Given the description of an element on the screen output the (x, y) to click on. 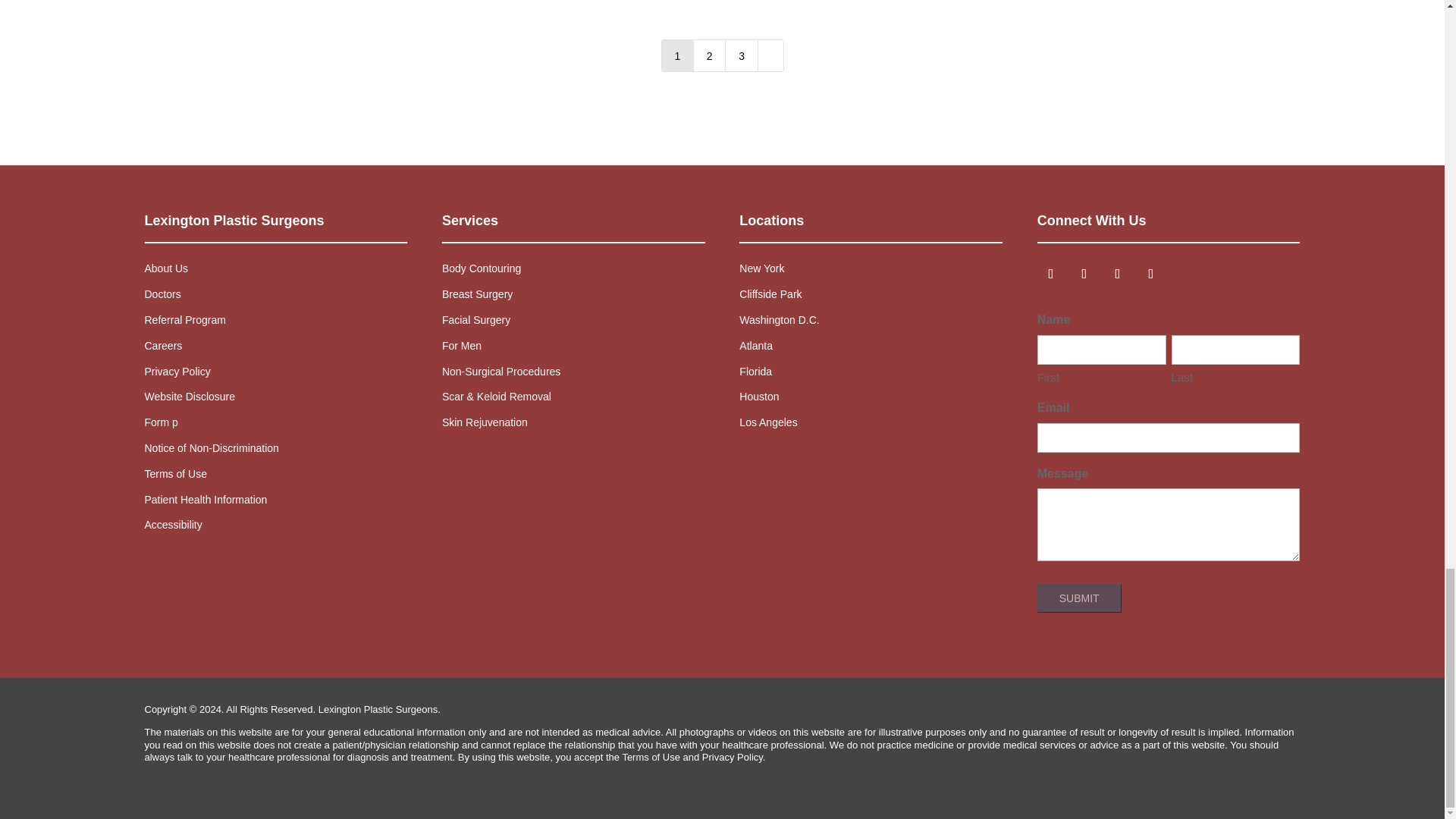
Submit (1078, 597)
Follow on X (1150, 273)
Follow on Instagram (1117, 273)
Follow on Facebook (1083, 273)
Follow on Youtube (1050, 273)
Follow on dbdb-periscope (1184, 273)
Follow on dbdb-snapchat (1217, 273)
